Given the description of an element on the screen output the (x, y) to click on. 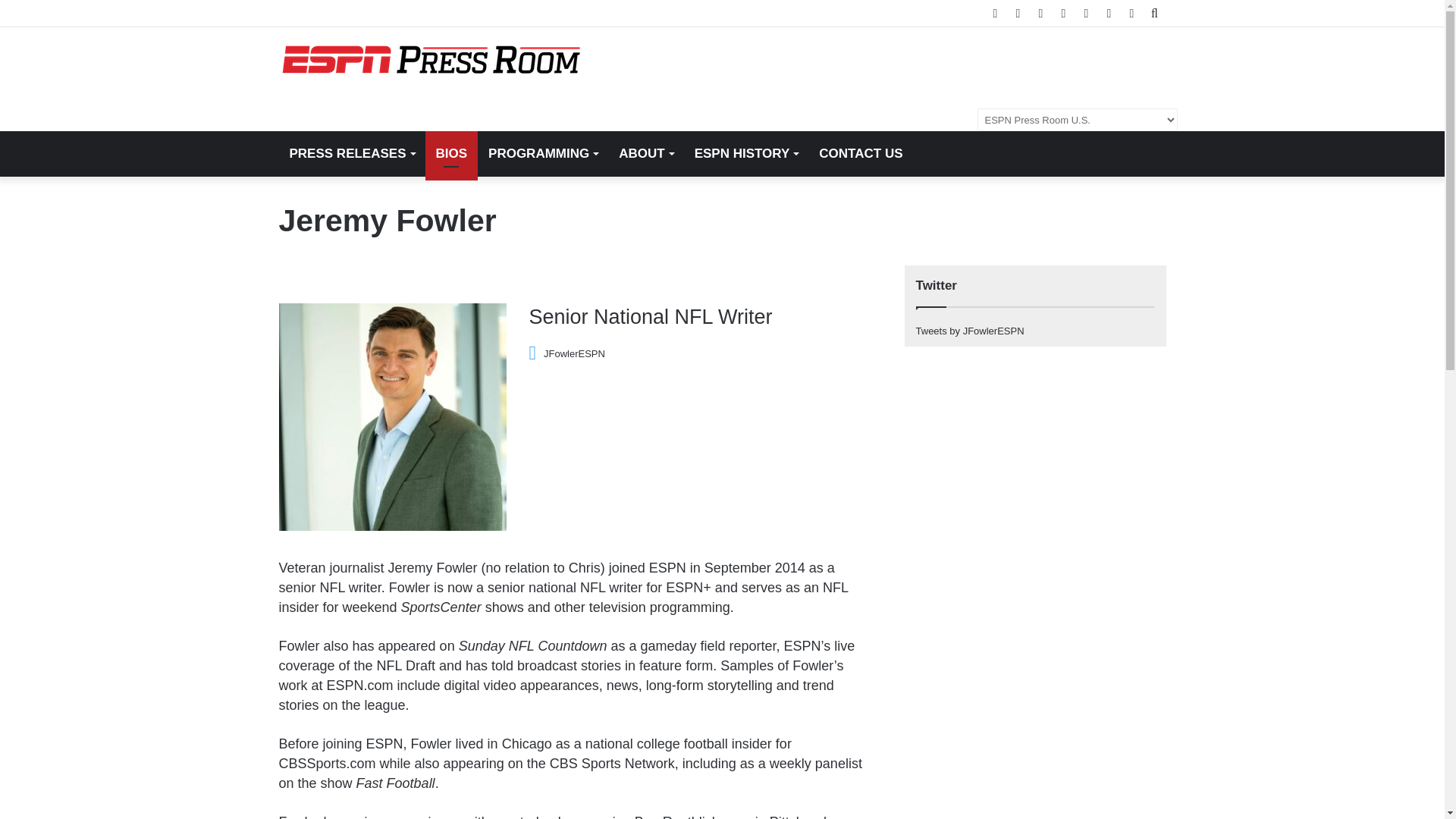
BIOS (451, 153)
PROGRAMMING (542, 153)
ESPN Press Room U.S. (430, 59)
ESPN HISTORY (746, 153)
Tweets by JFowlerESPN (970, 330)
JFowlerESPN (567, 352)
CONTACT US (860, 153)
PRESS RELEASES (352, 153)
ABOUT (645, 153)
